Given the description of an element on the screen output the (x, y) to click on. 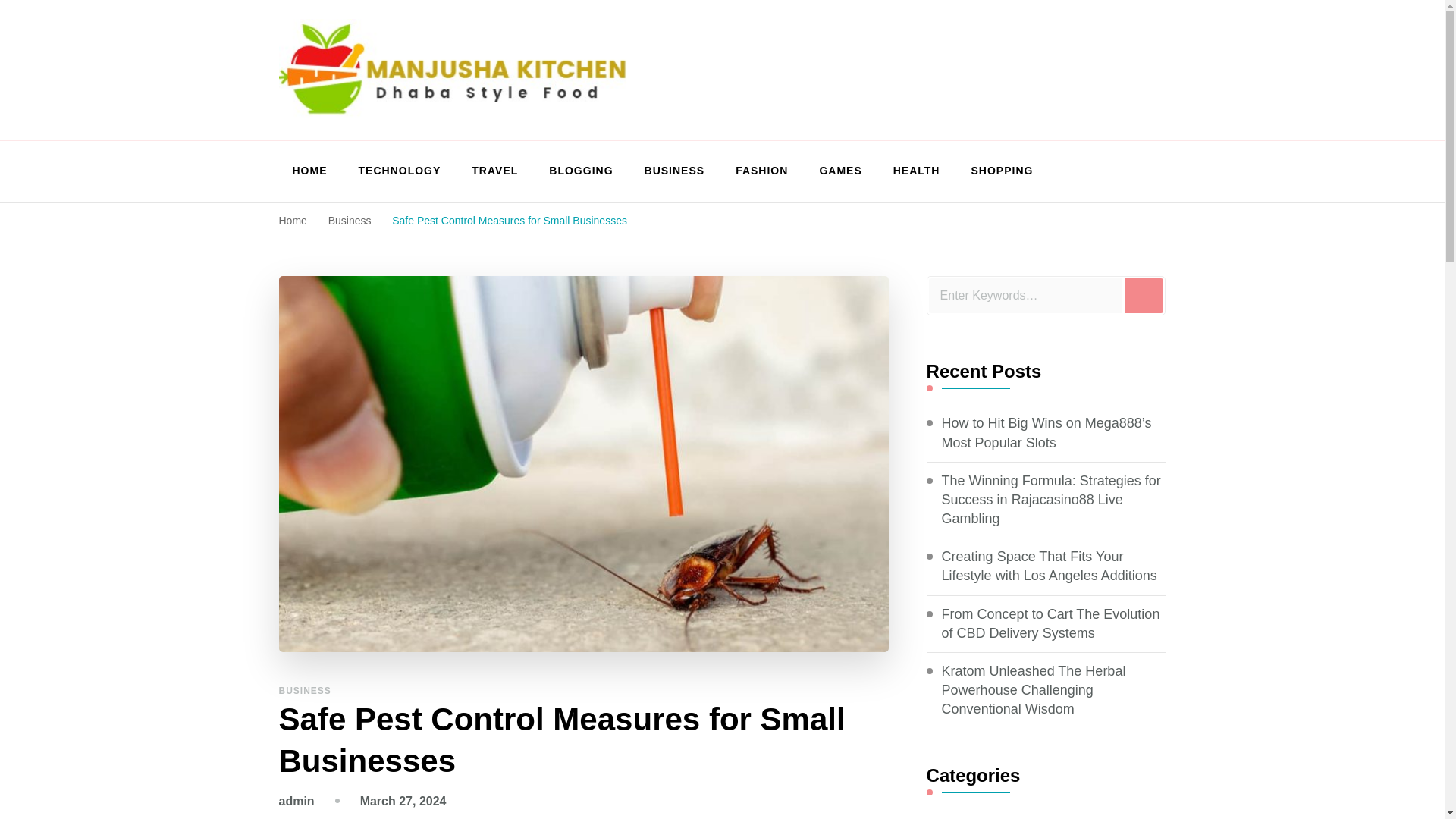
HOME (309, 171)
Home (293, 220)
Safe Pest Control Measures for Small Businesses (509, 220)
Business (351, 220)
Manjusha's-Kitchen (427, 137)
FASHION (762, 171)
BUSINESS (674, 171)
GAMES (840, 171)
Search (1143, 295)
admin (296, 800)
